Given the description of an element on the screen output the (x, y) to click on. 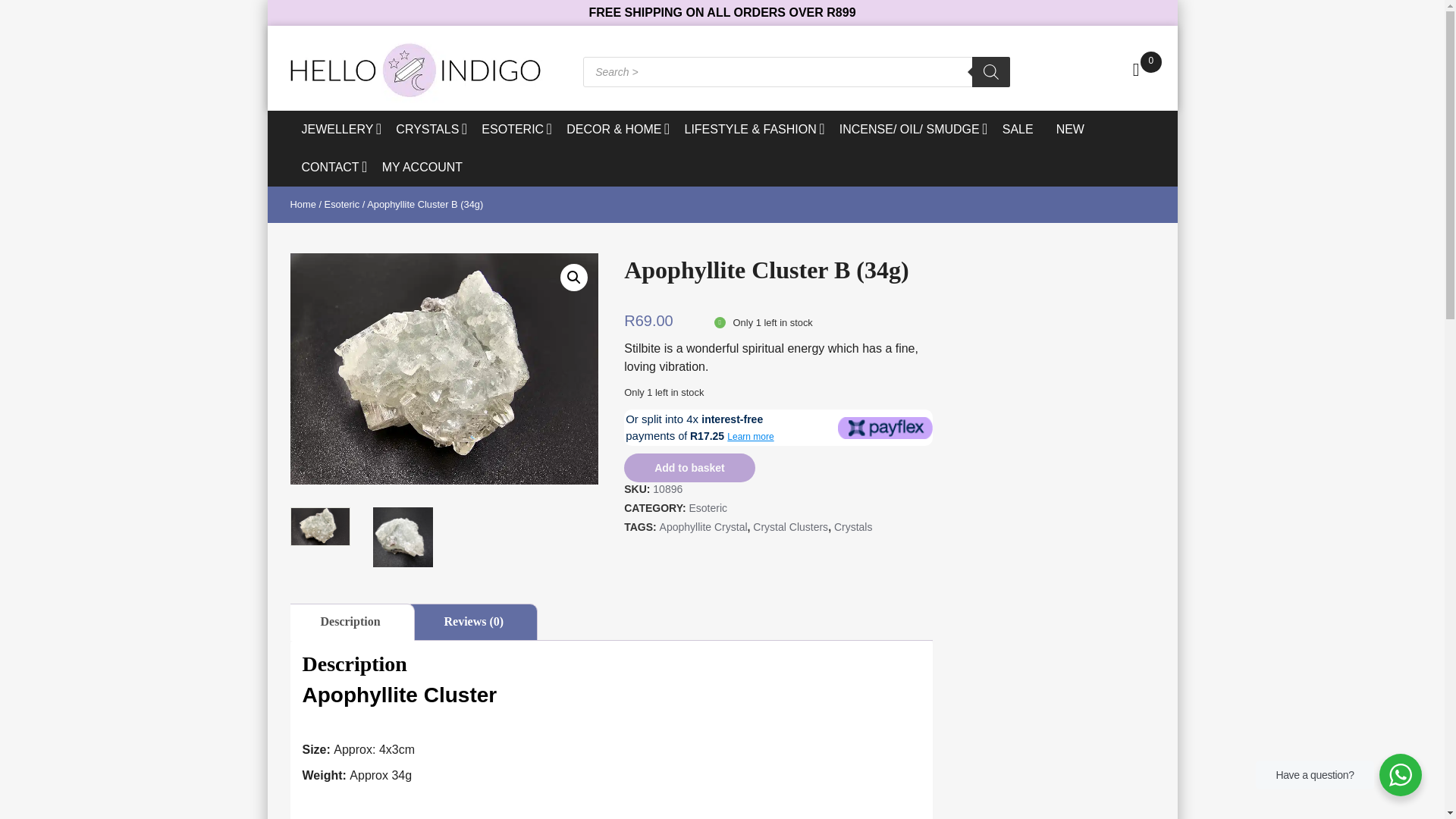
ESOTERIC (512, 129)
JEWELLERY (336, 129)
CRYSTALS (427, 129)
